Given the description of an element on the screen output the (x, y) to click on. 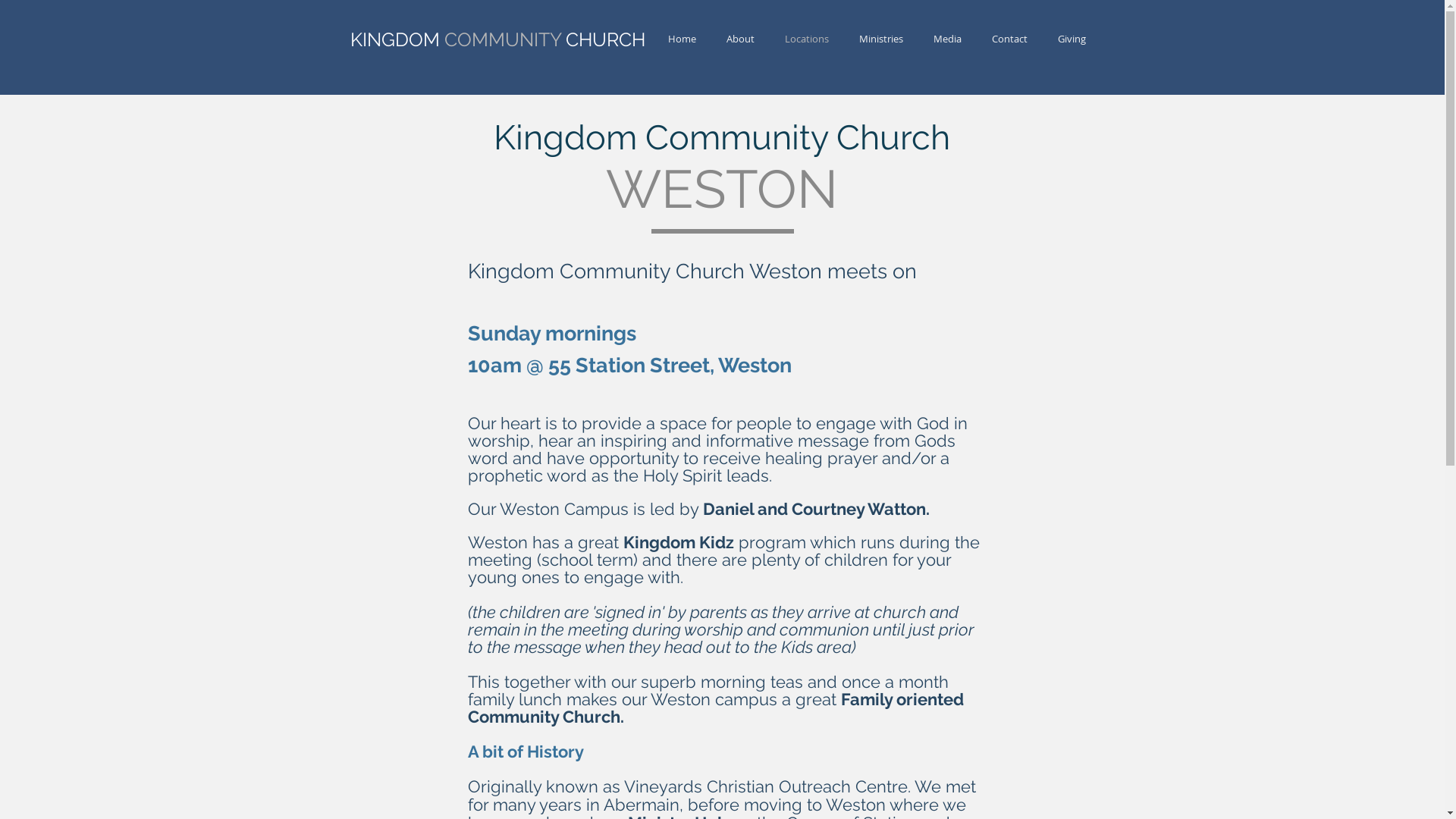
Contact Element type: text (1009, 38)
Giving Element type: text (1070, 38)
Media Element type: text (946, 38)
Home Element type: text (681, 38)
        KINGDOM COMMUNITY CHURCH Element type: text (479, 39)
Locations Element type: text (805, 38)
About Element type: text (740, 38)
Ministries Element type: text (880, 38)
